Given the description of an element on the screen output the (x, y) to click on. 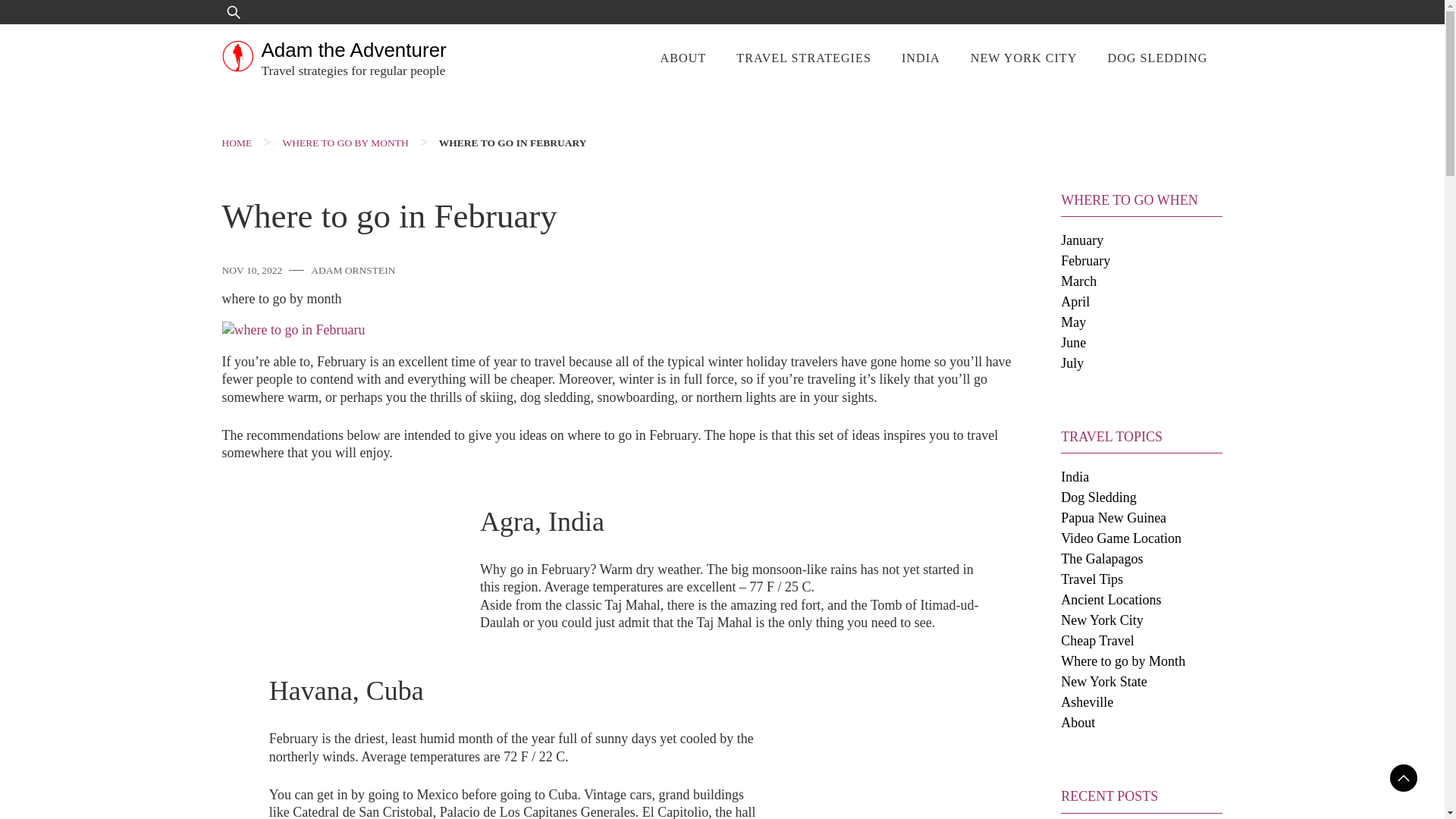
HOME (236, 142)
Search (62, 23)
The Galapagos (1101, 558)
India (1075, 476)
ABOUT (683, 58)
NEW YORK CITY (1024, 58)
June (1073, 342)
February (1085, 260)
March (1078, 281)
WHERE TO GO BY MONTH (344, 142)
January (1082, 240)
where to go by month (280, 298)
Where to go in February (512, 142)
ADAM ORNSTEIN (352, 270)
TRAVEL STRATEGIES (803, 58)
